Given the description of an element on the screen output the (x, y) to click on. 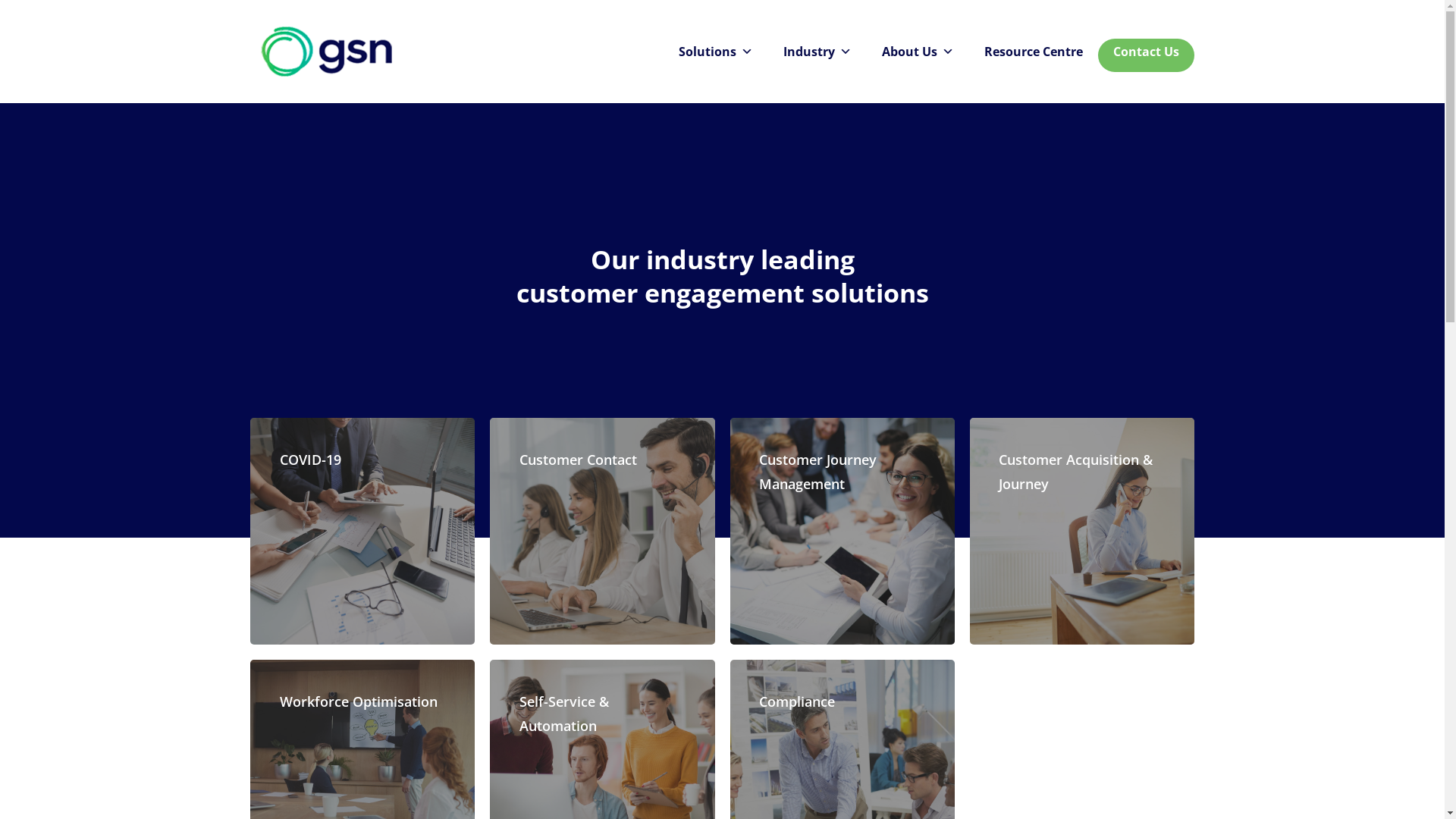
GSN - Call Centre Software Element type: hover (325, 51)
Resource Centre Element type: text (1033, 51)
Industry Element type: text (817, 51)
Solutions Element type: text (715, 51)
Contact Us Element type: text (1146, 51)
About Us Element type: text (917, 51)
